Given the description of an element on the screen output the (x, y) to click on. 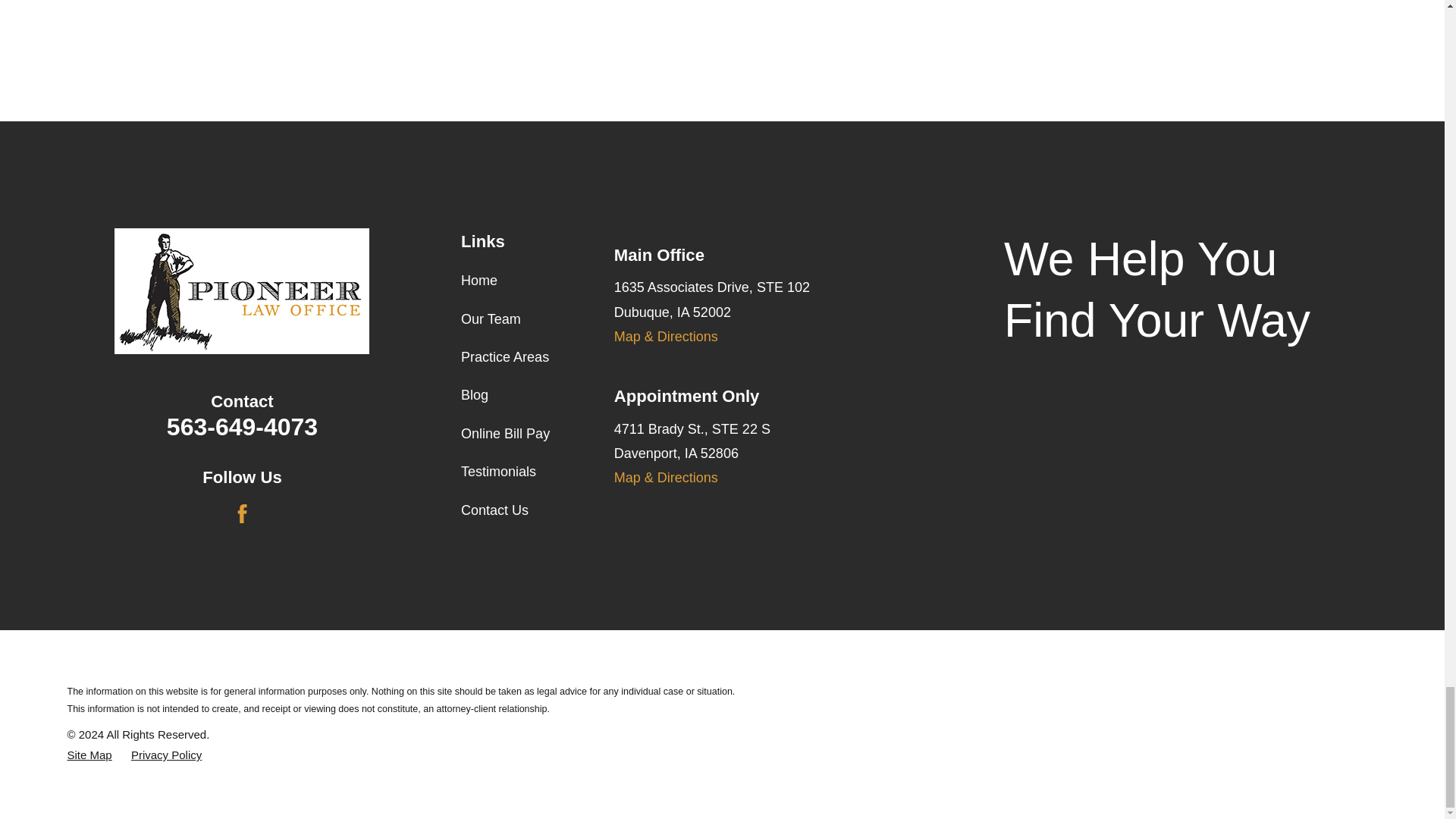
Facebook (241, 513)
Home (242, 290)
